Given the description of an element on the screen output the (x, y) to click on. 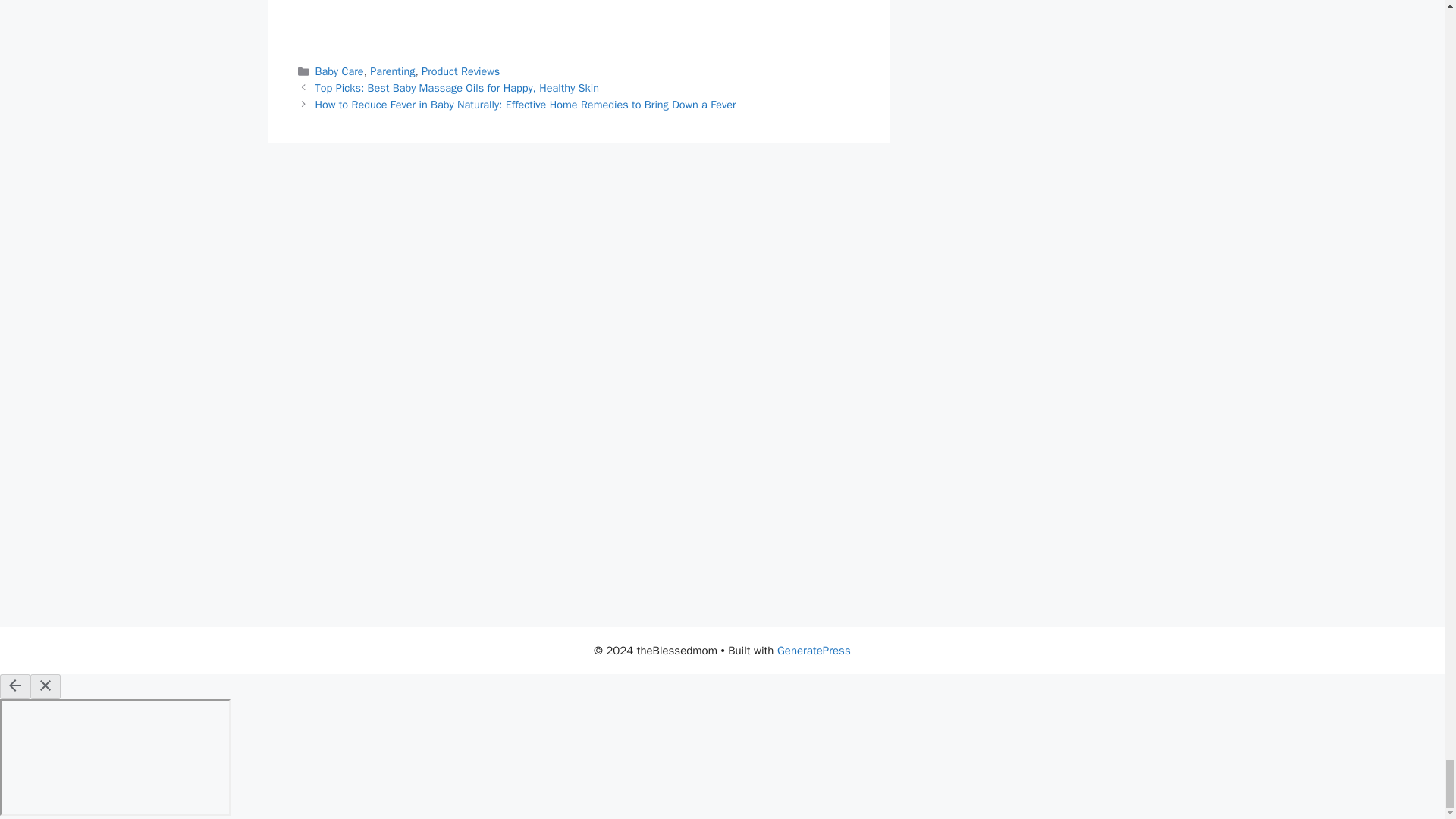
Baby Care (339, 70)
Parenting (391, 70)
